Given the description of an element on the screen output the (x, y) to click on. 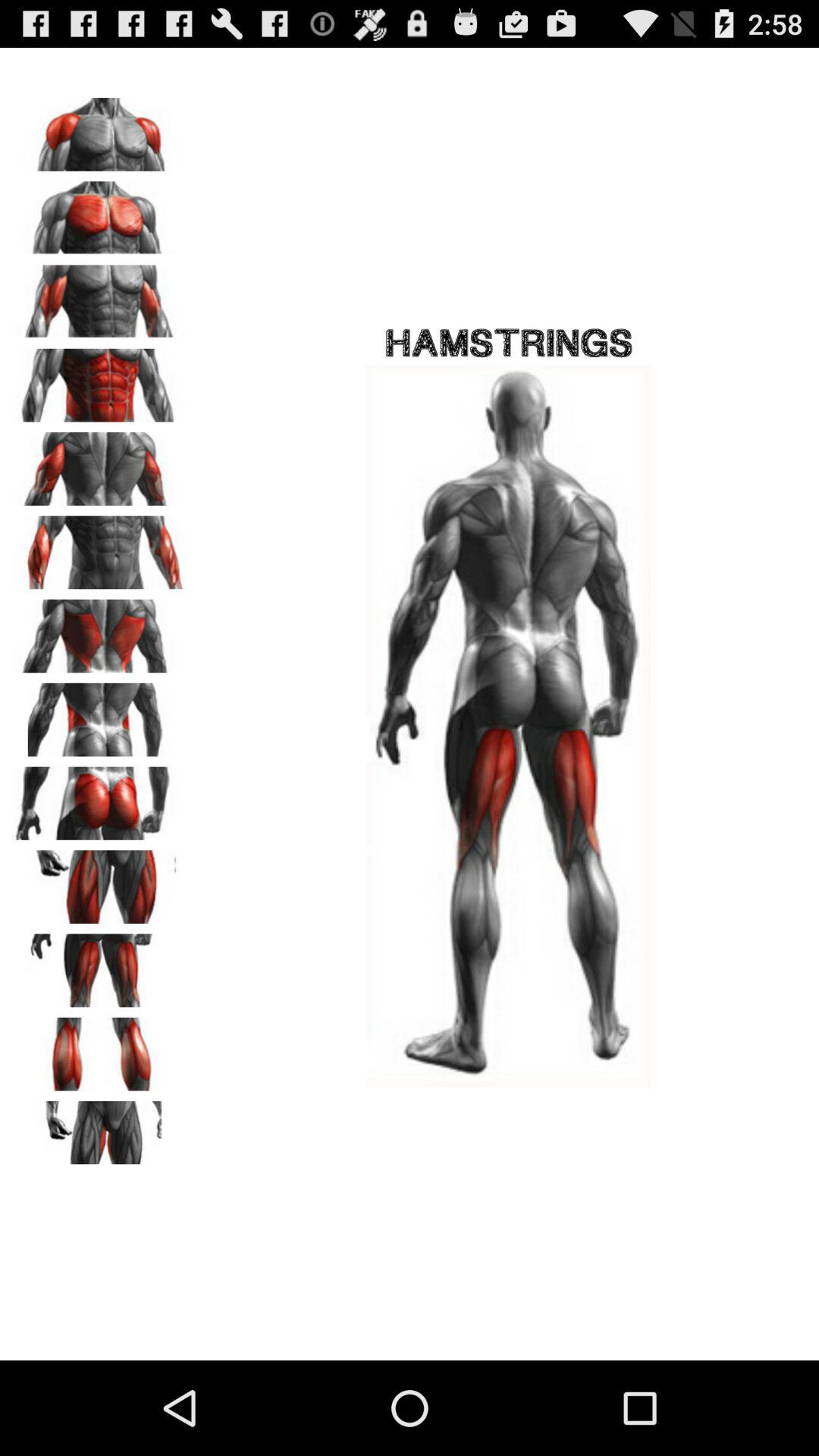
go to upper back muscles (99, 630)
